Given the description of an element on the screen output the (x, y) to click on. 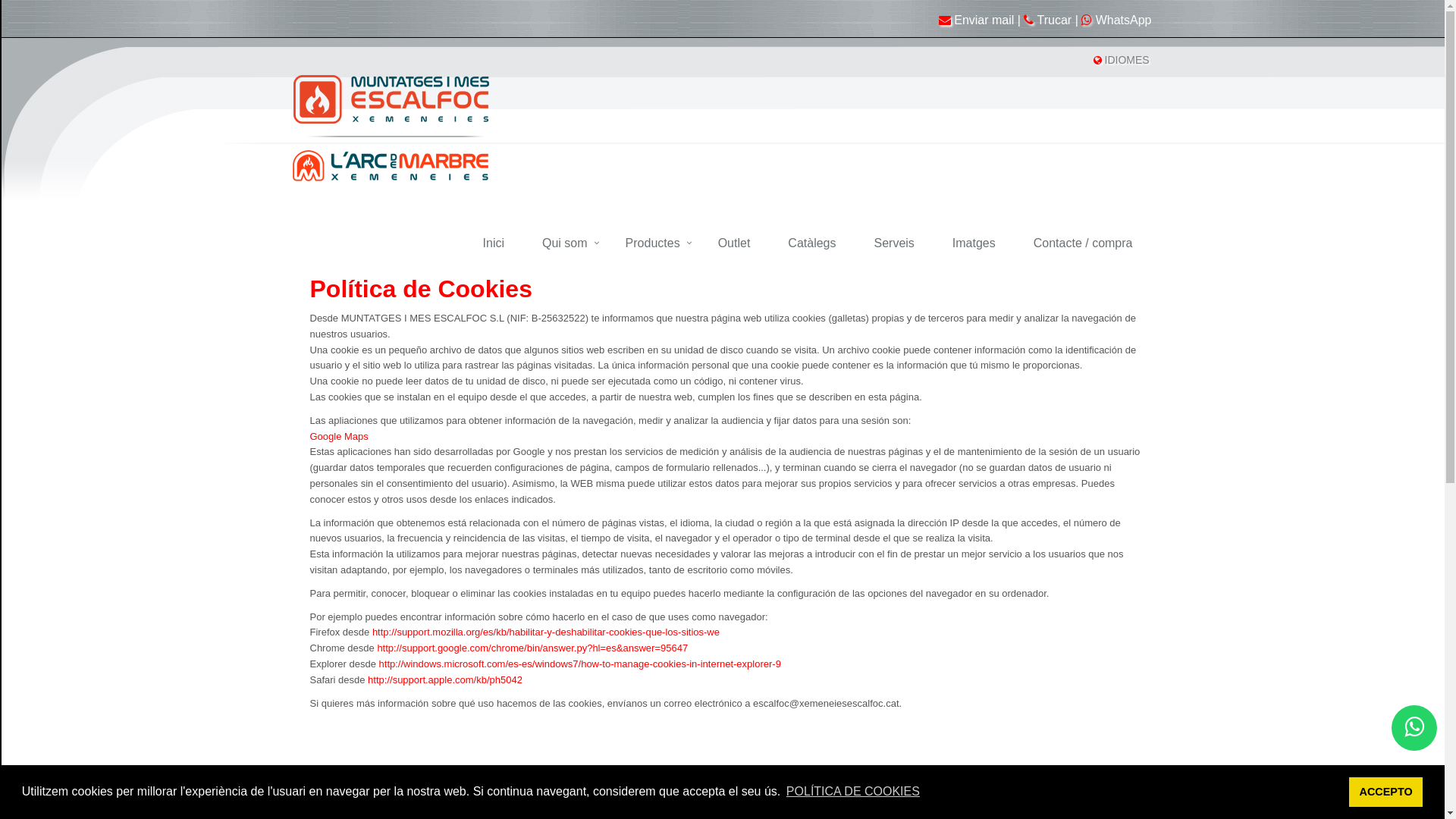
Imatges Element type: text (977, 244)
Inici Element type: text (497, 244)
ACCEPTO Element type: text (1385, 791)
IDIOMES   Element type: text (1129, 59)
WhatsApp Element type: text (1116, 19)
Serveis Element type: text (897, 244)
Enviar mail Element type: text (976, 19)
Qui som Element type: text (568, 244)
Contacte / compra Element type: text (1086, 244)
Trucar Element type: text (1047, 19)
http://support.apple.com/kb/ph5042 Element type: text (444, 679)
Productes Element type: text (656, 244)
Google Maps Element type: text (338, 436)
Outlet Element type: text (737, 244)
